Given the description of an element on the screen output the (x, y) to click on. 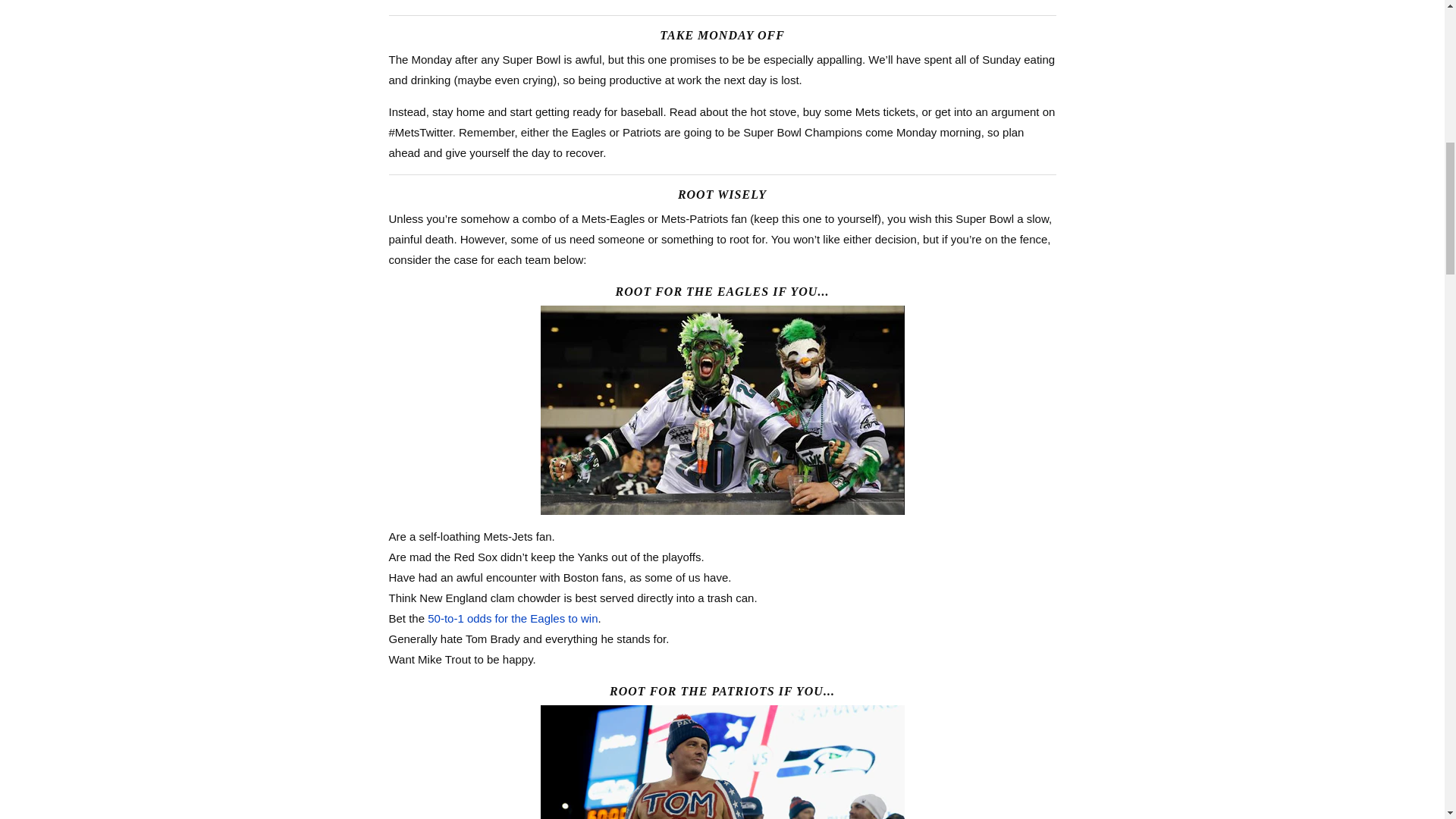
50-to-1 odds for the Eagles to win (512, 617)
